Given the description of an element on the screen output the (x, y) to click on. 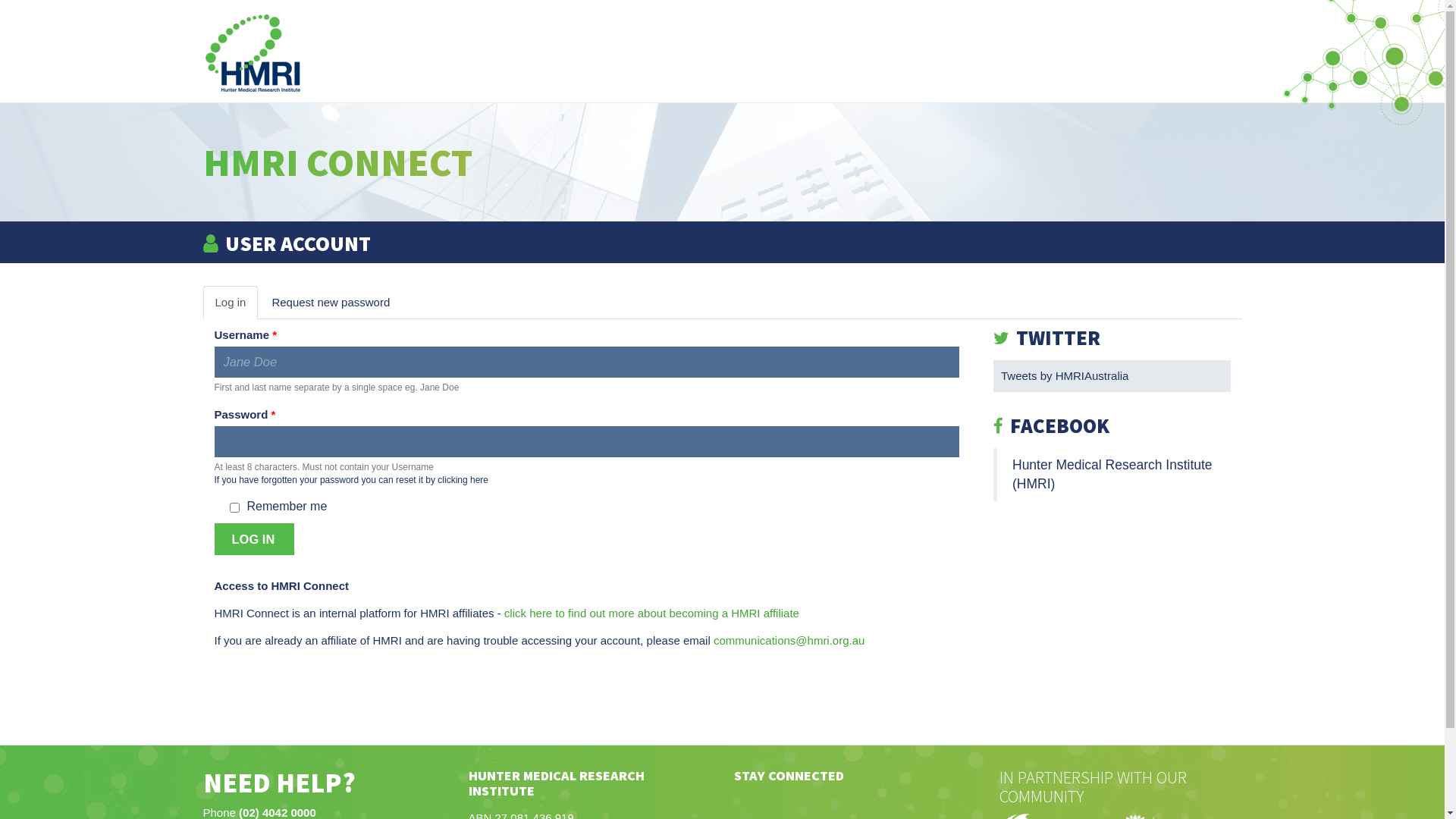
communications@hmri.org.au Element type: text (788, 639)
Home Element type: hover (252, 53)
LOG IN Element type: text (253, 538)
0 Element type: text (1425, 219)
Log in
(active tab) Element type: text (230, 301)
click here to find out more about becoming a HMRI affiliate Element type: text (651, 612)
Request new password Element type: text (330, 301)
Hunter Medical Research Institute (HMRI) Element type: text (1112, 474)
Tweets by HMRIAustralia Element type: text (1064, 375)
Skip to main content Element type: text (0, 0)
